Given the description of an element on the screen output the (x, y) to click on. 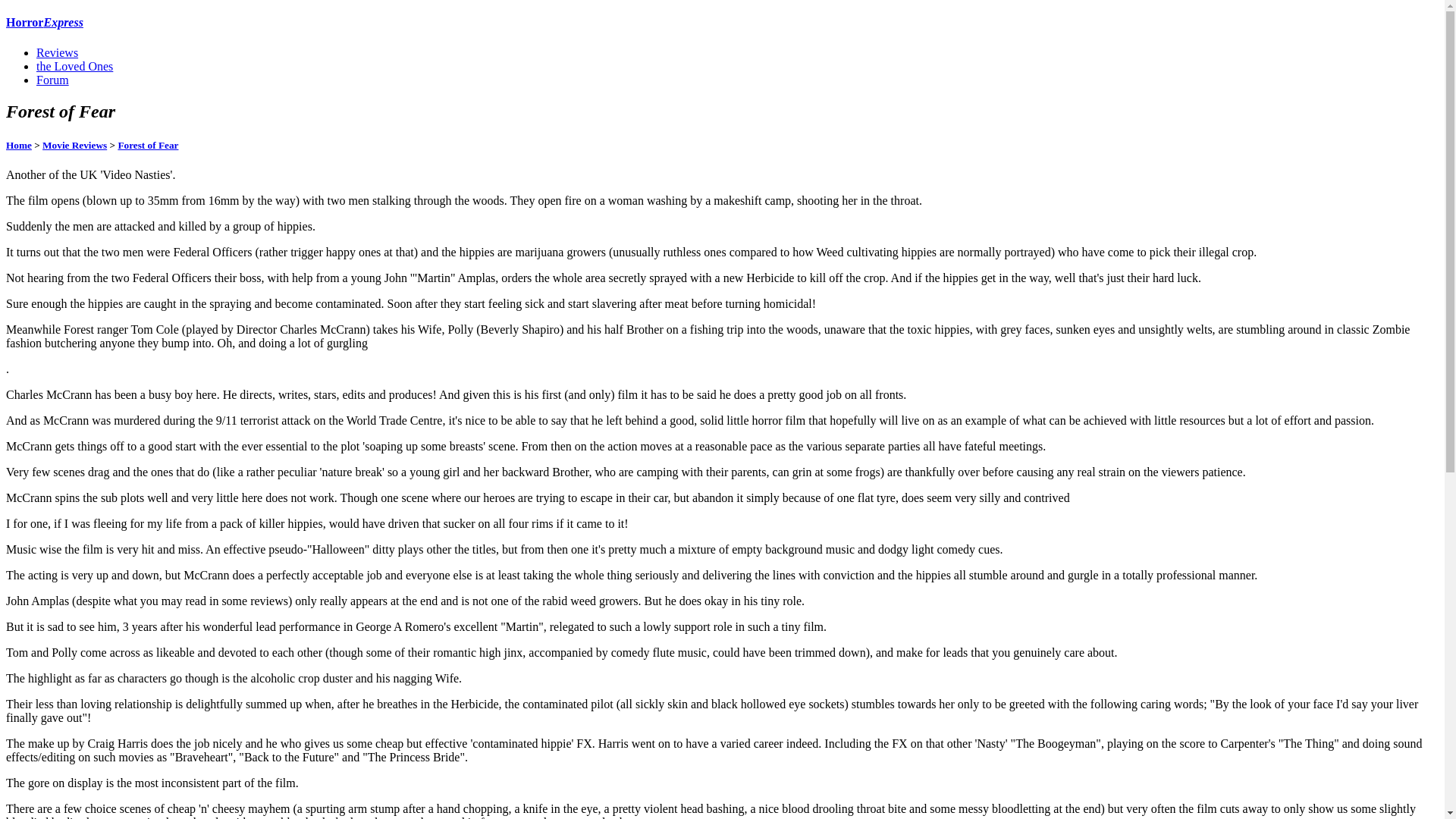
Movie Reviews (74, 144)
Forest of Fear (147, 144)
the Loved Ones (74, 65)
Home (18, 144)
Forum (52, 79)
Reviews (57, 51)
HorrorExpress (43, 21)
